Given the description of an element on the screen output the (x, y) to click on. 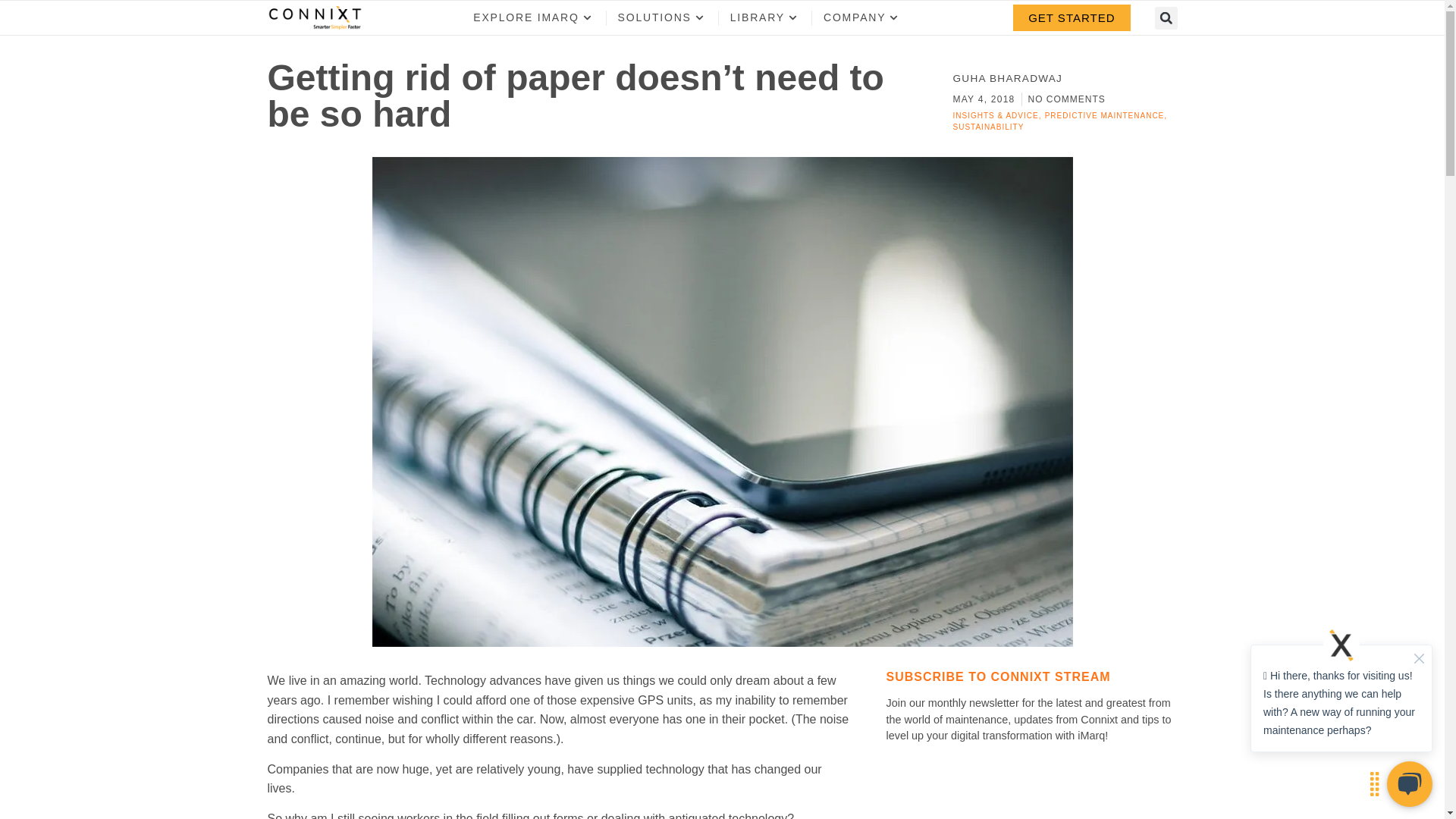
Form 0 (1030, 793)
